Given the description of an element on the screen output the (x, y) to click on. 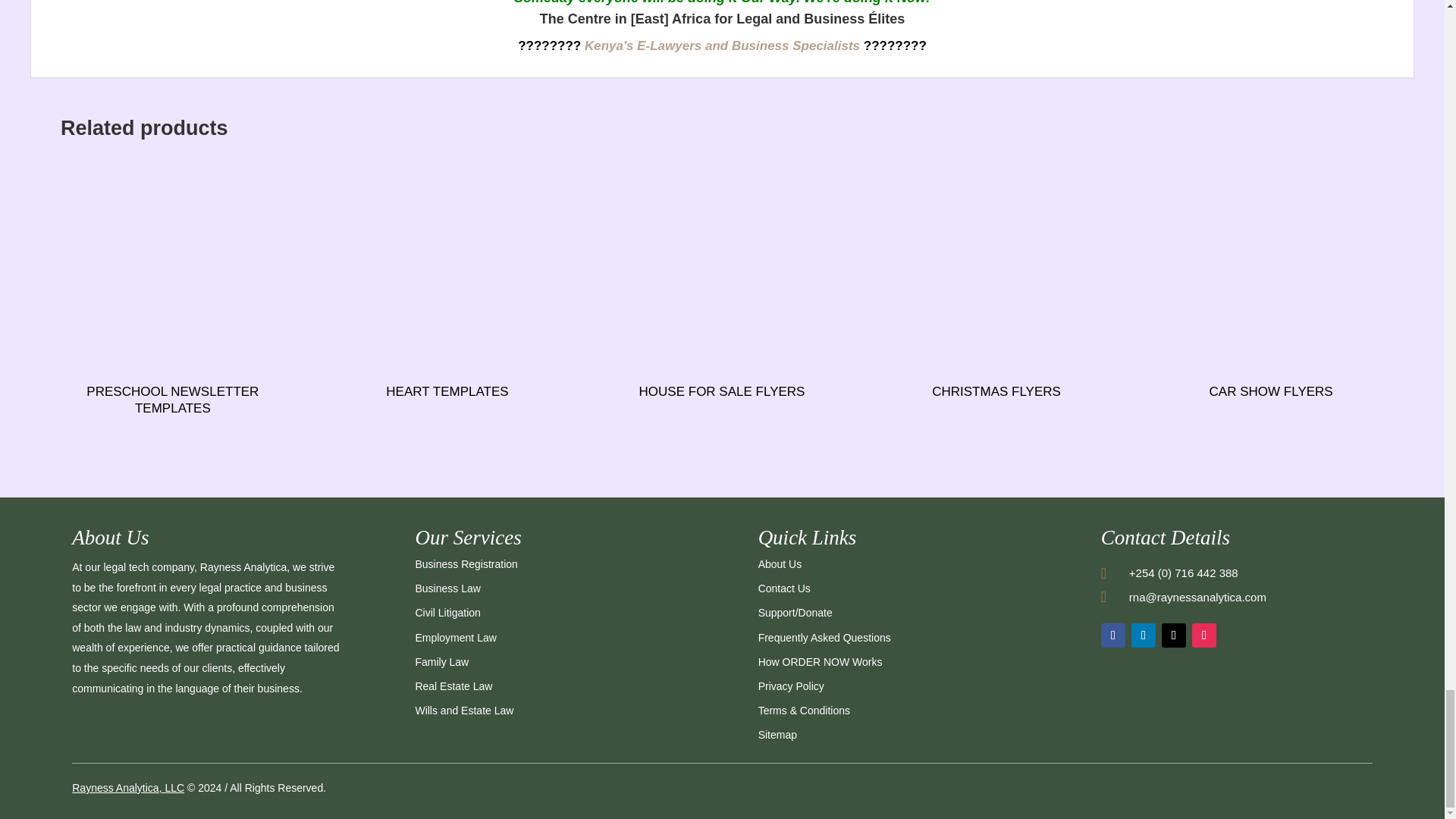
Follow on Instagram (1203, 635)
Follow on Facebook (1112, 635)
Follow on X (1173, 635)
MPESA PAYBILL NO. (1161, 744)
Follow on LinkedIn (1143, 635)
